Given the description of an element on the screen output the (x, y) to click on. 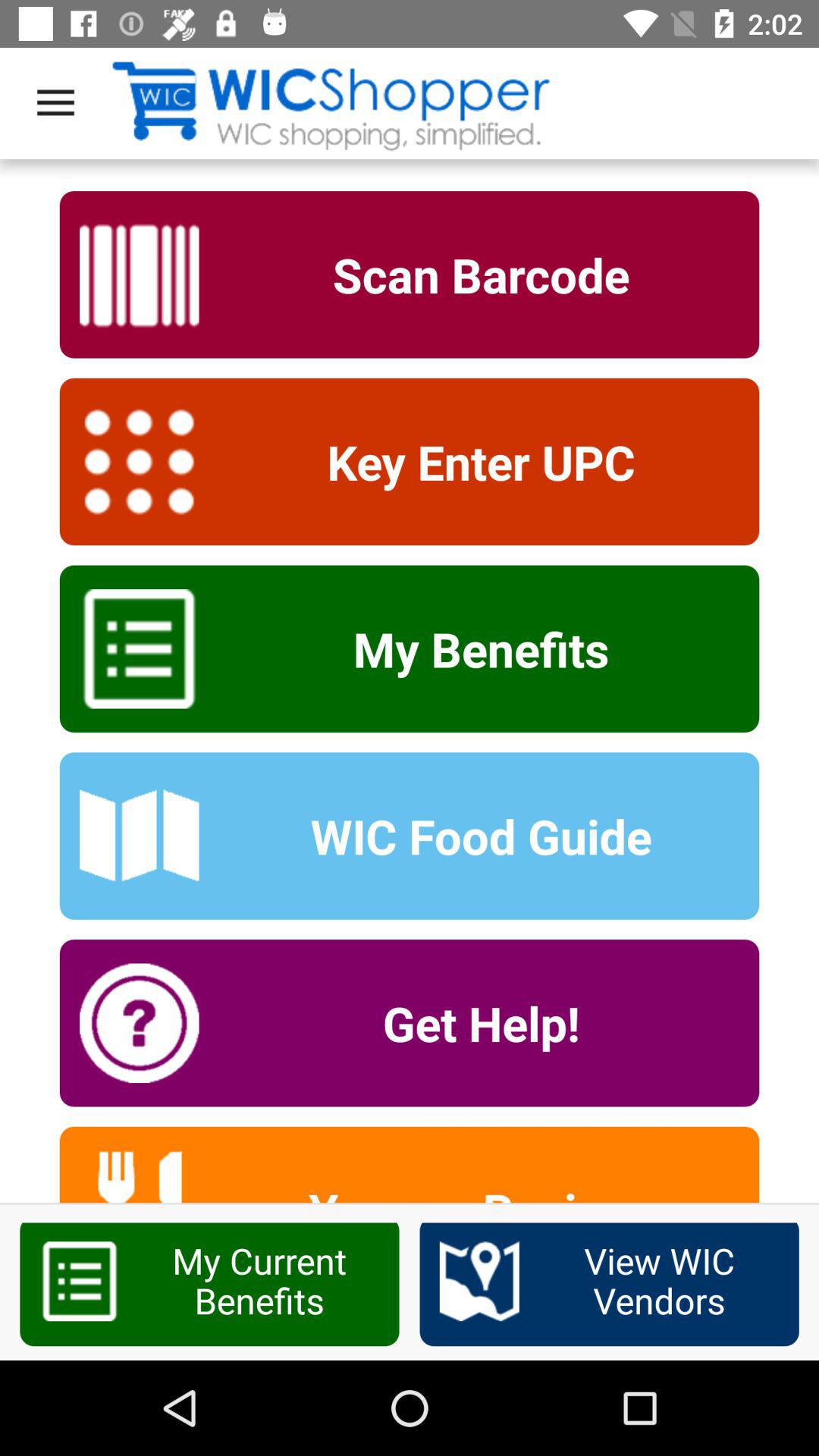
flip to the yummy recipes icon (471, 1190)
